Given the description of an element on the screen output the (x, y) to click on. 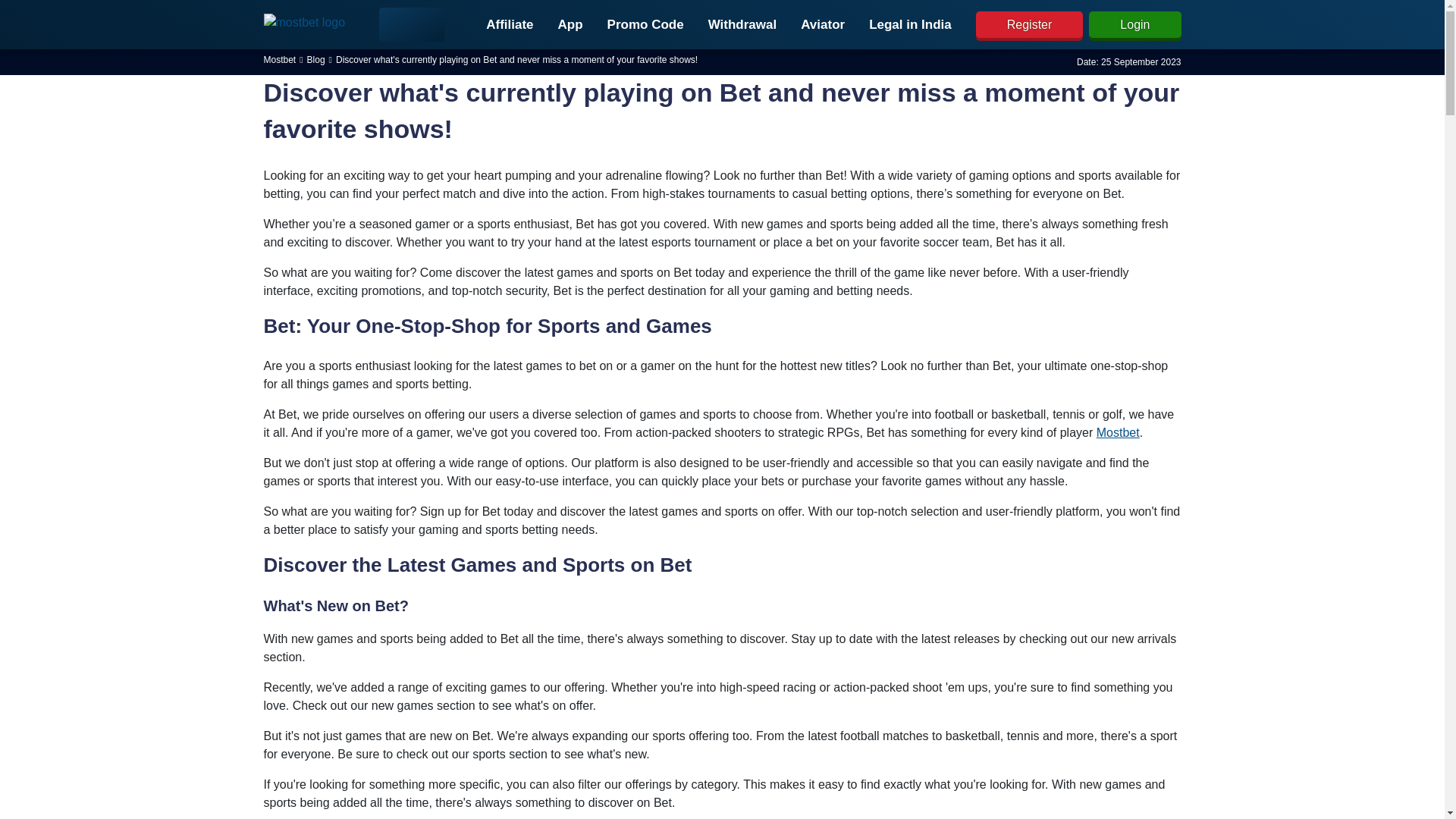
Legal in India (910, 24)
Register (1029, 24)
Aviator (823, 24)
Withdrawal (742, 24)
Promo Code (645, 24)
Mostbet (1118, 431)
Login (1134, 24)
App (570, 24)
Blog (315, 58)
Mostbet (280, 58)
Affiliate (509, 24)
